Given the description of an element on the screen output the (x, y) to click on. 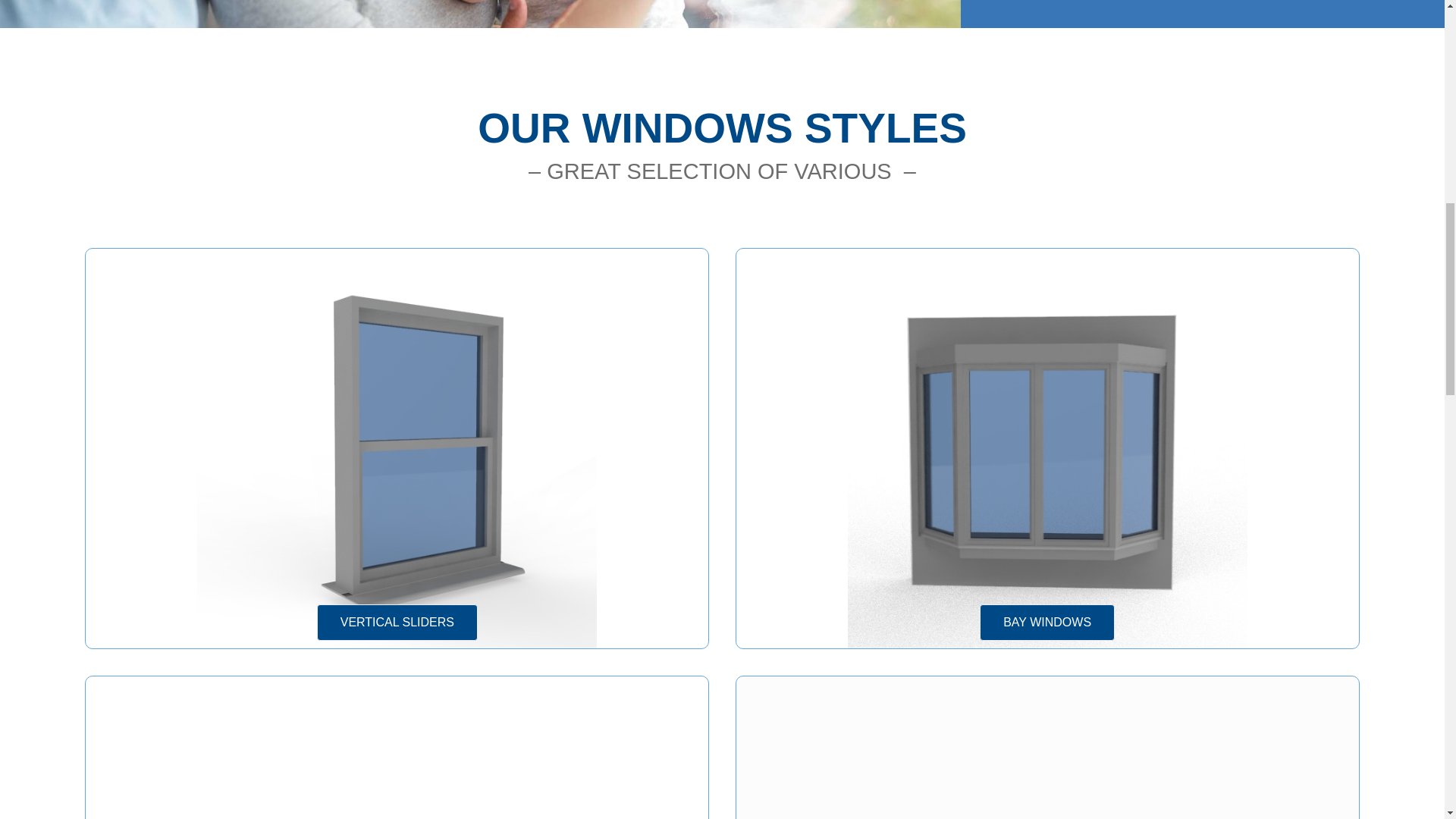
VERTICAL SLIDERS (397, 622)
BAY WINDOWS (1047, 622)
